Given the description of an element on the screen output the (x, y) to click on. 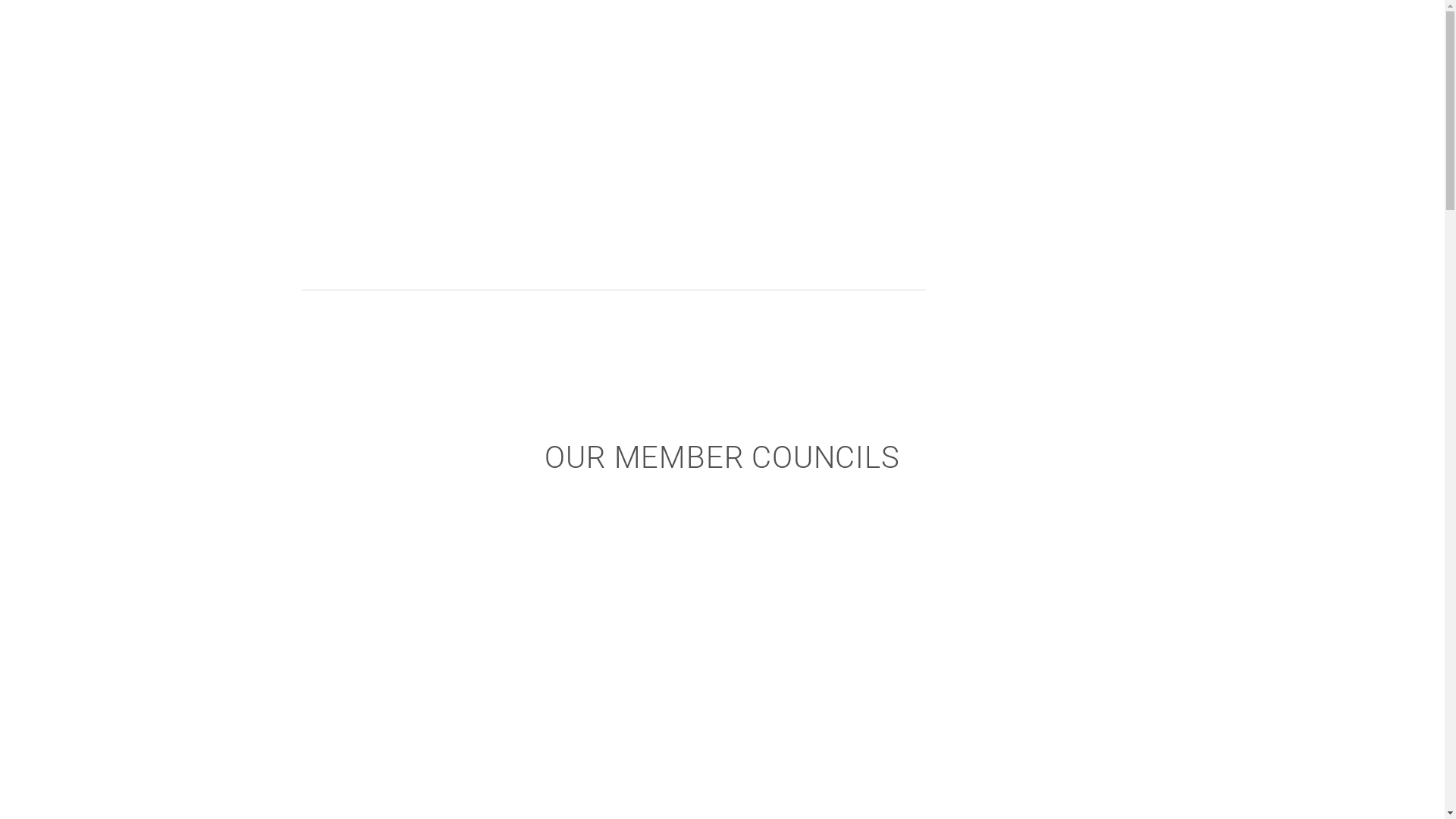
NEWS Element type: text (993, 191)
SUBMISSIONS Element type: text (1024, 152)
ADVOCACY Element type: text (1013, 112)
